Given the description of an element on the screen output the (x, y) to click on. 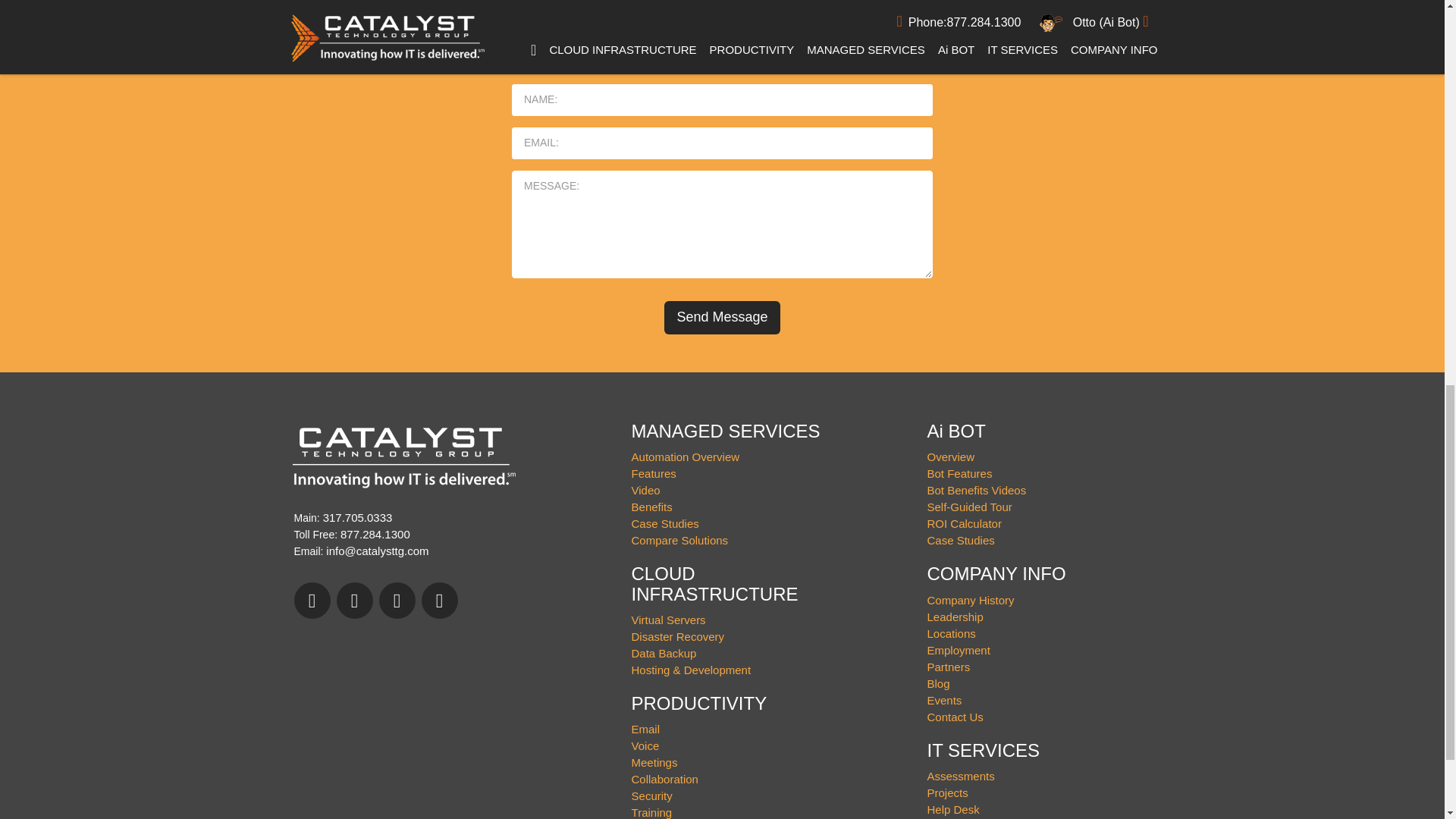
Email (646, 728)
Overview (951, 456)
Data Backup (664, 653)
Send Message (720, 317)
Events (944, 699)
Collaboration (664, 779)
Locations (951, 633)
Assessments (960, 775)
Meetings (654, 762)
Blog (938, 683)
